Given the description of an element on the screen output the (x, y) to click on. 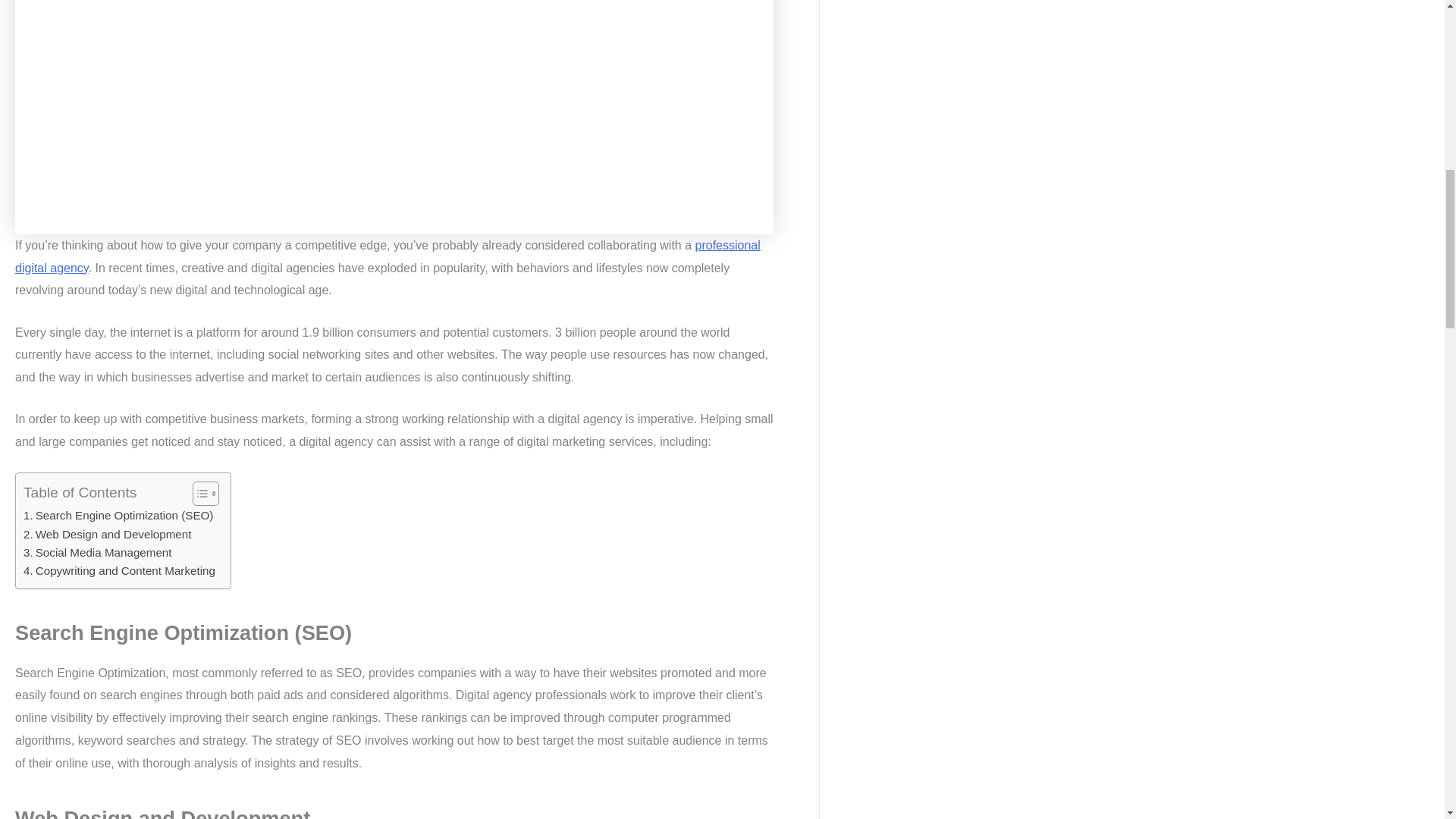
Social Media Management (97, 552)
Copywriting and Content Marketing (119, 570)
Social Media Management (97, 552)
Copywriting and Content Marketing (119, 570)
Web Design and Development (106, 534)
Web Design and Development (106, 534)
professional digital agency (387, 256)
